Given the description of an element on the screen output the (x, y) to click on. 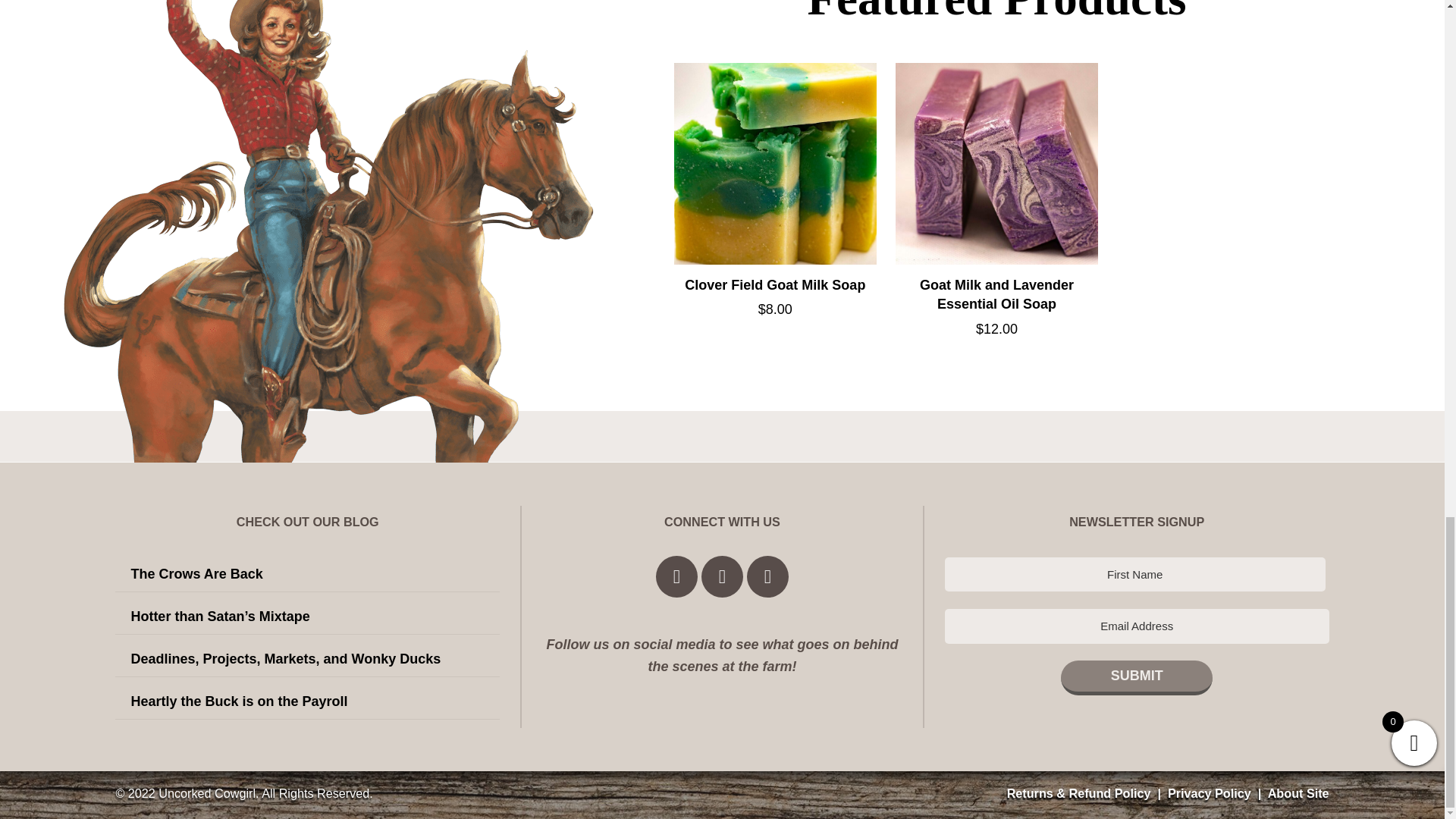
Submit (1136, 678)
